Given the description of an element on the screen output the (x, y) to click on. 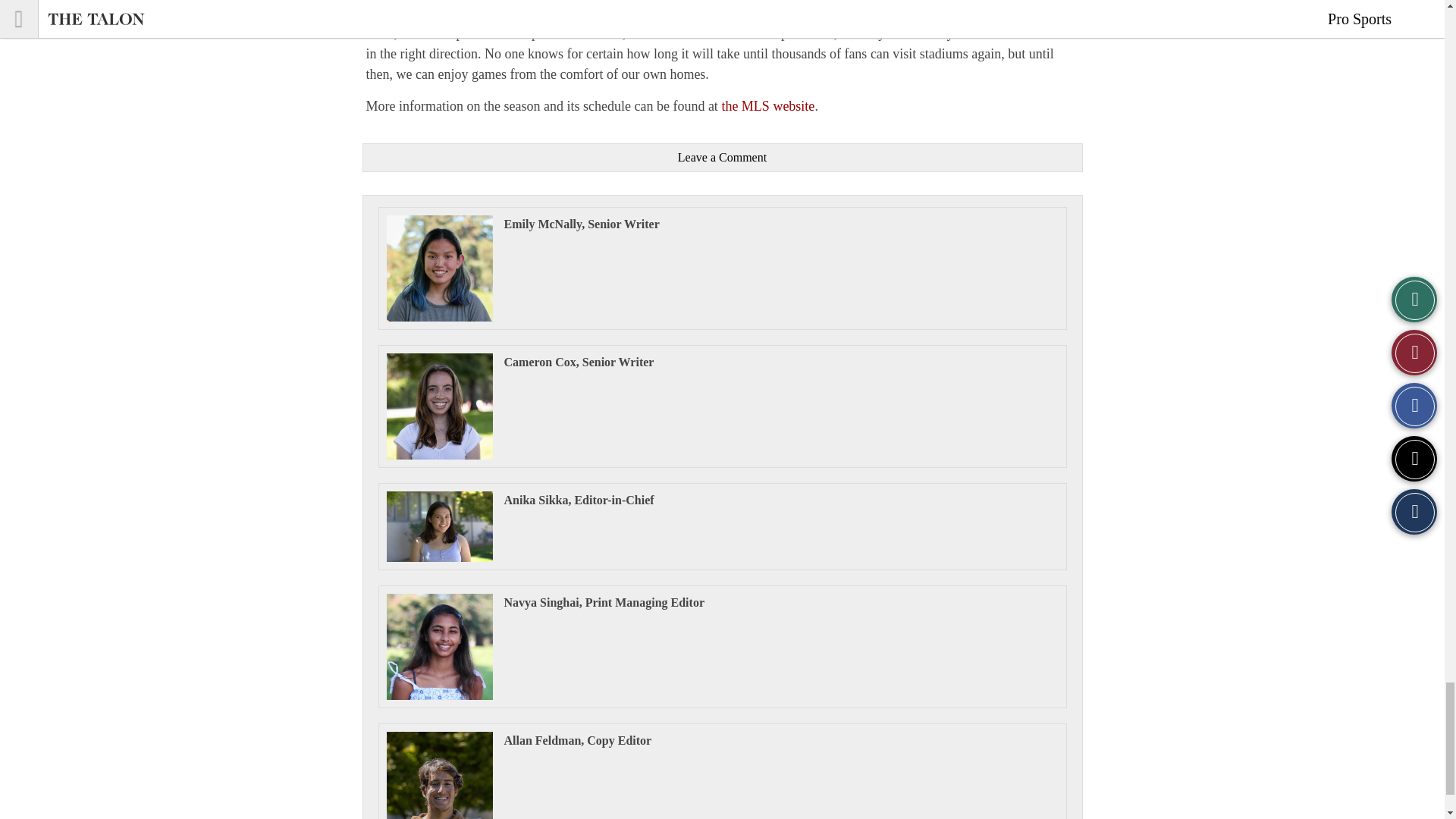
the MLS website (766, 105)
